Given the description of an element on the screen output the (x, y) to click on. 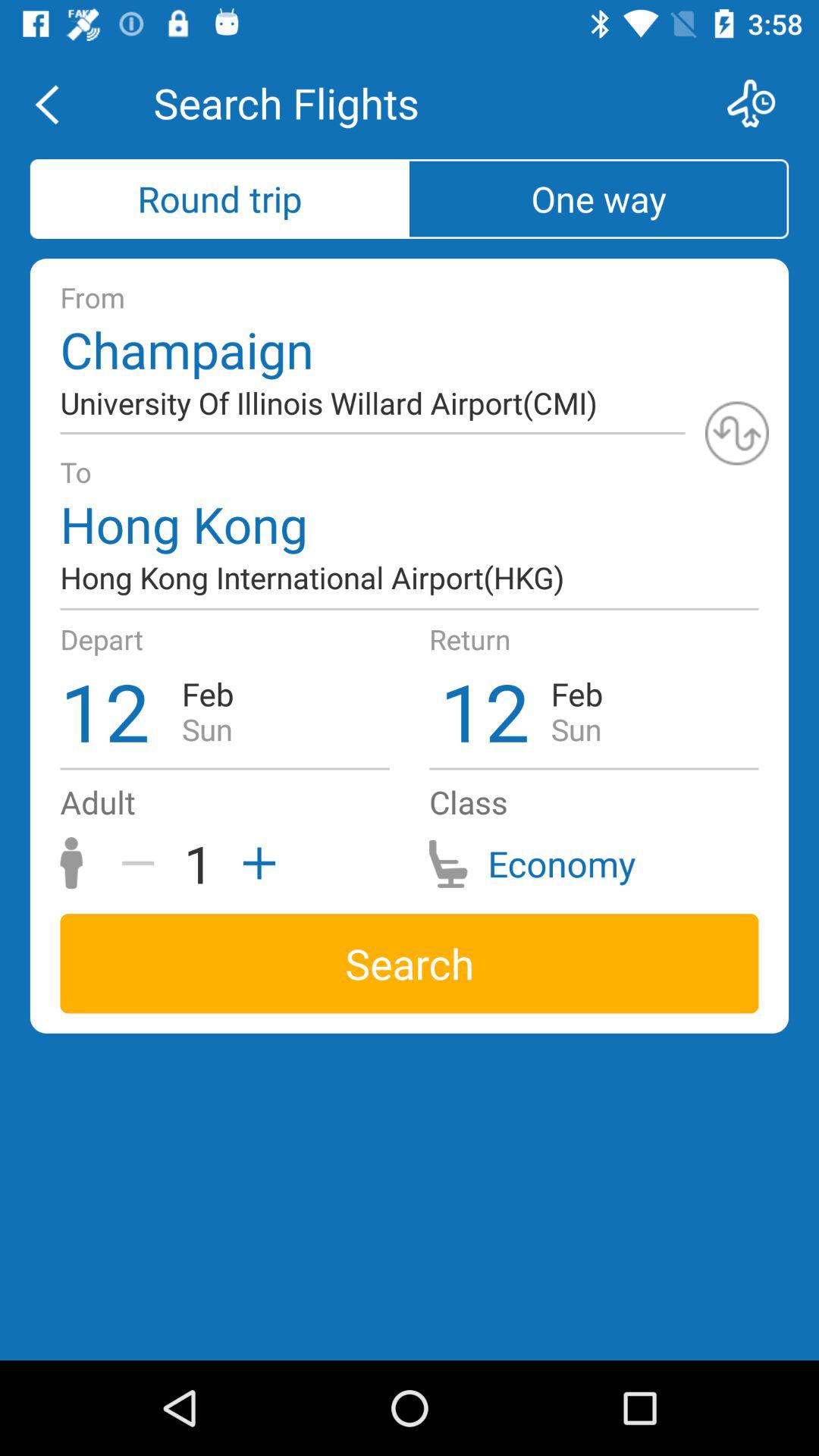
toggle the number of adults up (254, 863)
